Given the description of an element on the screen output the (x, y) to click on. 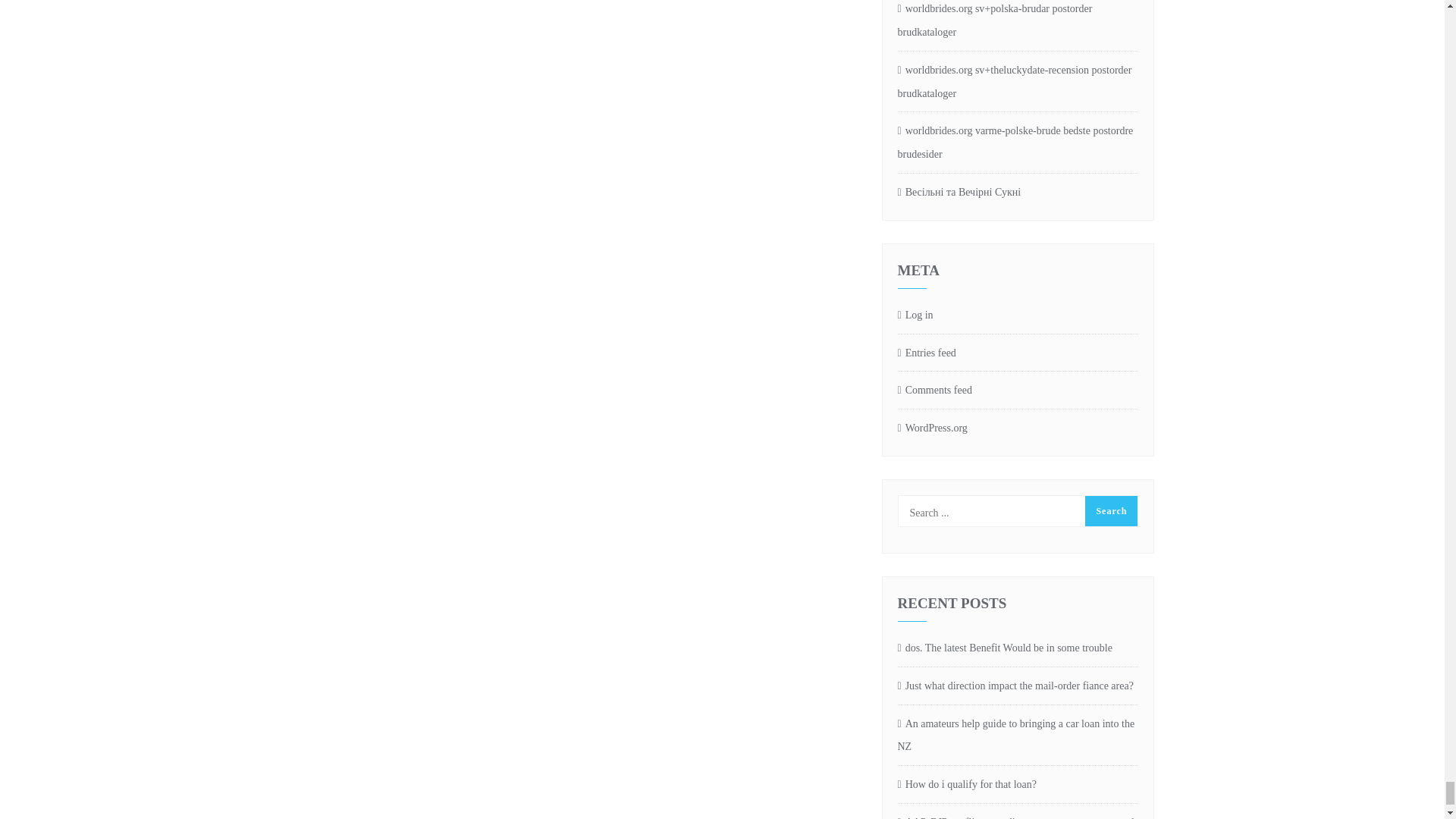
Search (1110, 511)
Search (1110, 511)
